Given the description of an element on the screen output the (x, y) to click on. 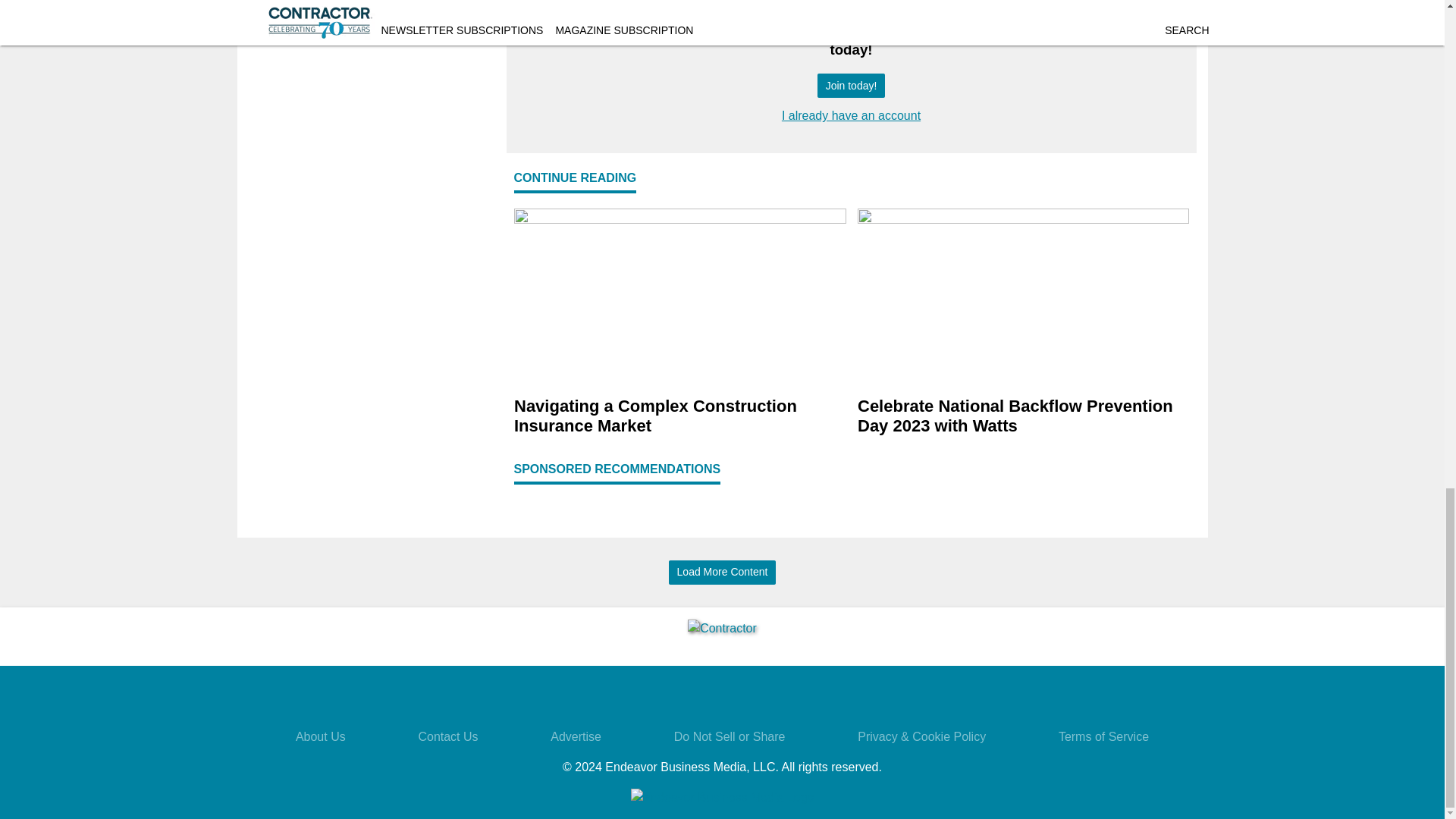
Navigating a Complex Construction Insurance Market (679, 416)
I already have an account (850, 115)
Advertise (575, 736)
About Us (320, 736)
Join today! (850, 85)
Celebrate National Backflow Prevention Day 2023 with Watts (1023, 416)
Contact Us (447, 736)
Do Not Sell or Share (730, 736)
Terms of Service (1103, 736)
Load More Content (722, 572)
